Given the description of an element on the screen output the (x, y) to click on. 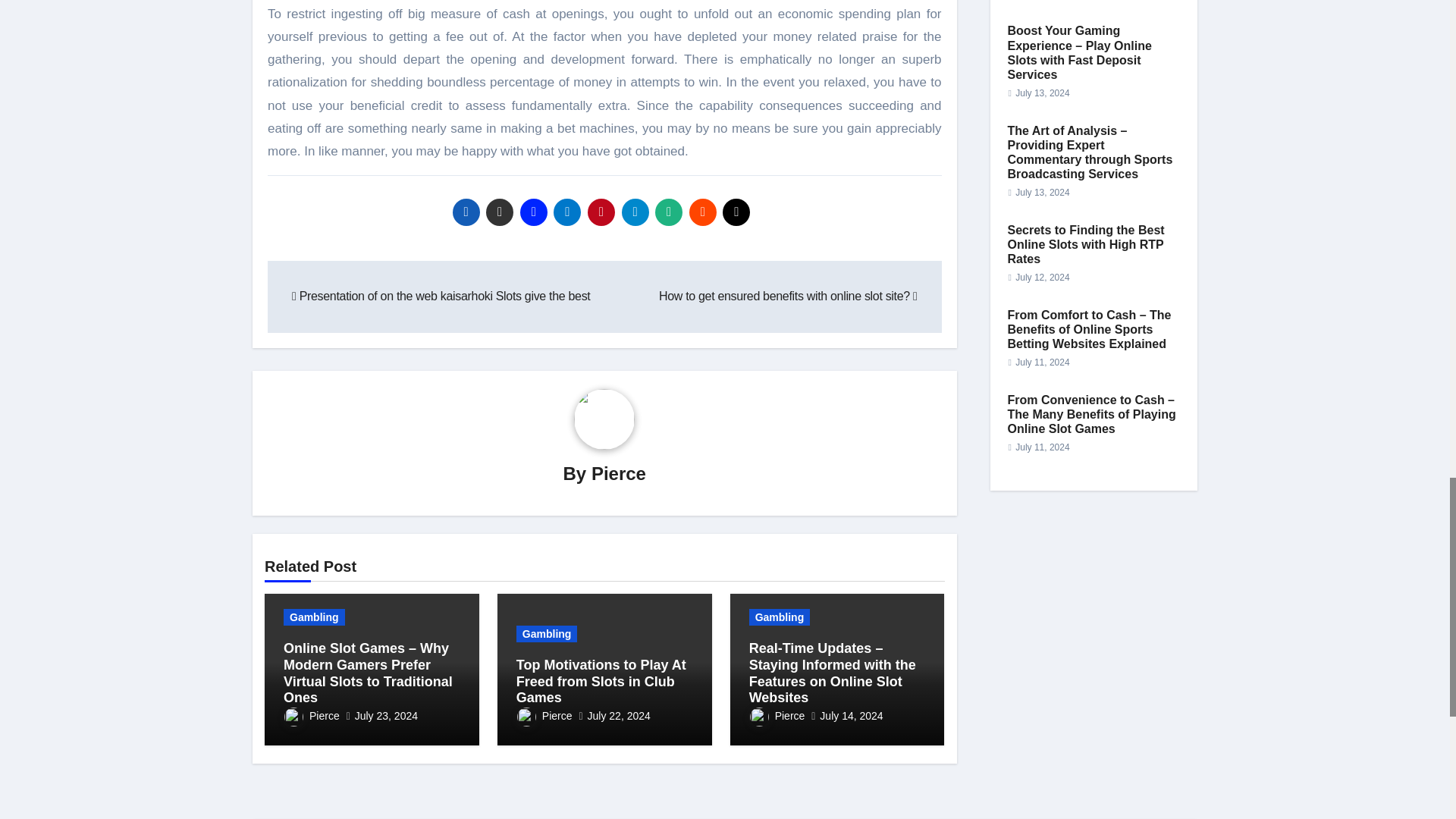
Presentation of on the web kaisarhoki Slots give the best (440, 295)
How to get ensured benefits with online slot site? (788, 295)
Pierce (618, 473)
